Given the description of an element on the screen output the (x, y) to click on. 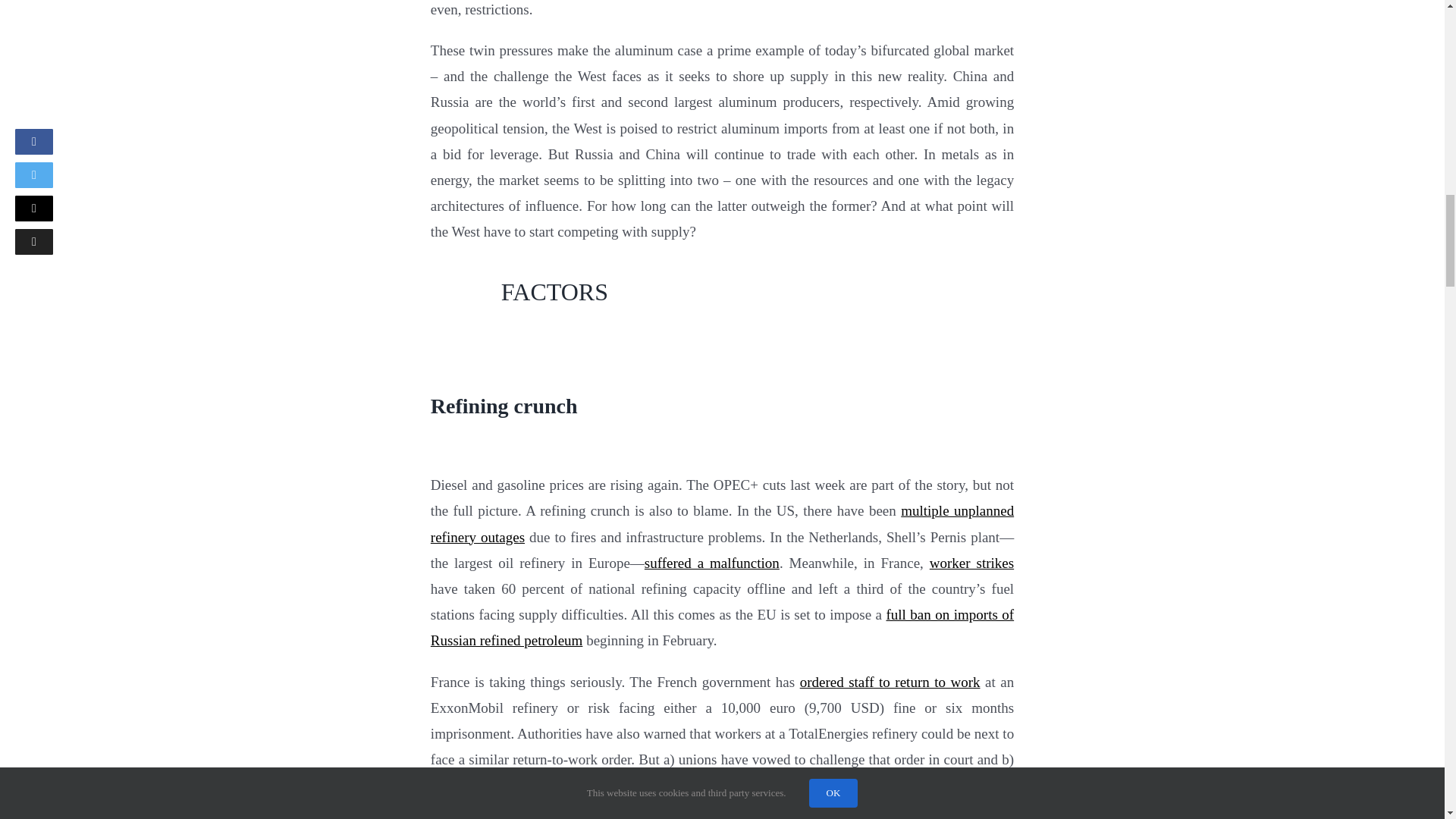
worker strikes (971, 562)
suffered a malfunction (711, 562)
ordered staff to return to work (889, 682)
full ban on imports of Russian refined petroleum (721, 627)
multiple unplanned refinery outages (721, 523)
